Given the description of an element on the screen output the (x, y) to click on. 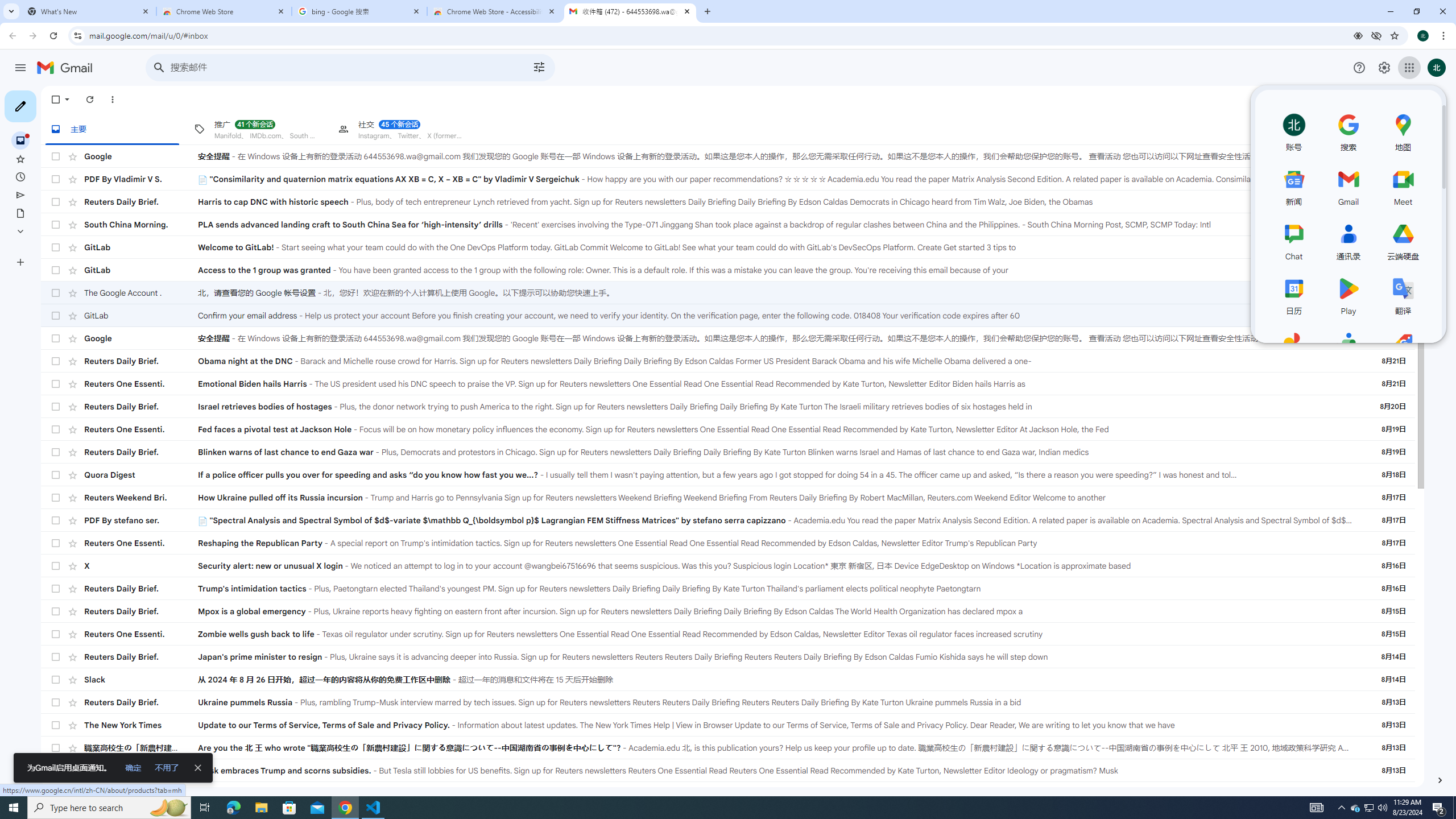
Keep (1439, 133)
The New York Times (141, 724)
Google (141, 337)
Chrome Web Store (224, 11)
Search tabs (10, 11)
